Given the description of an element on the screen output the (x, y) to click on. 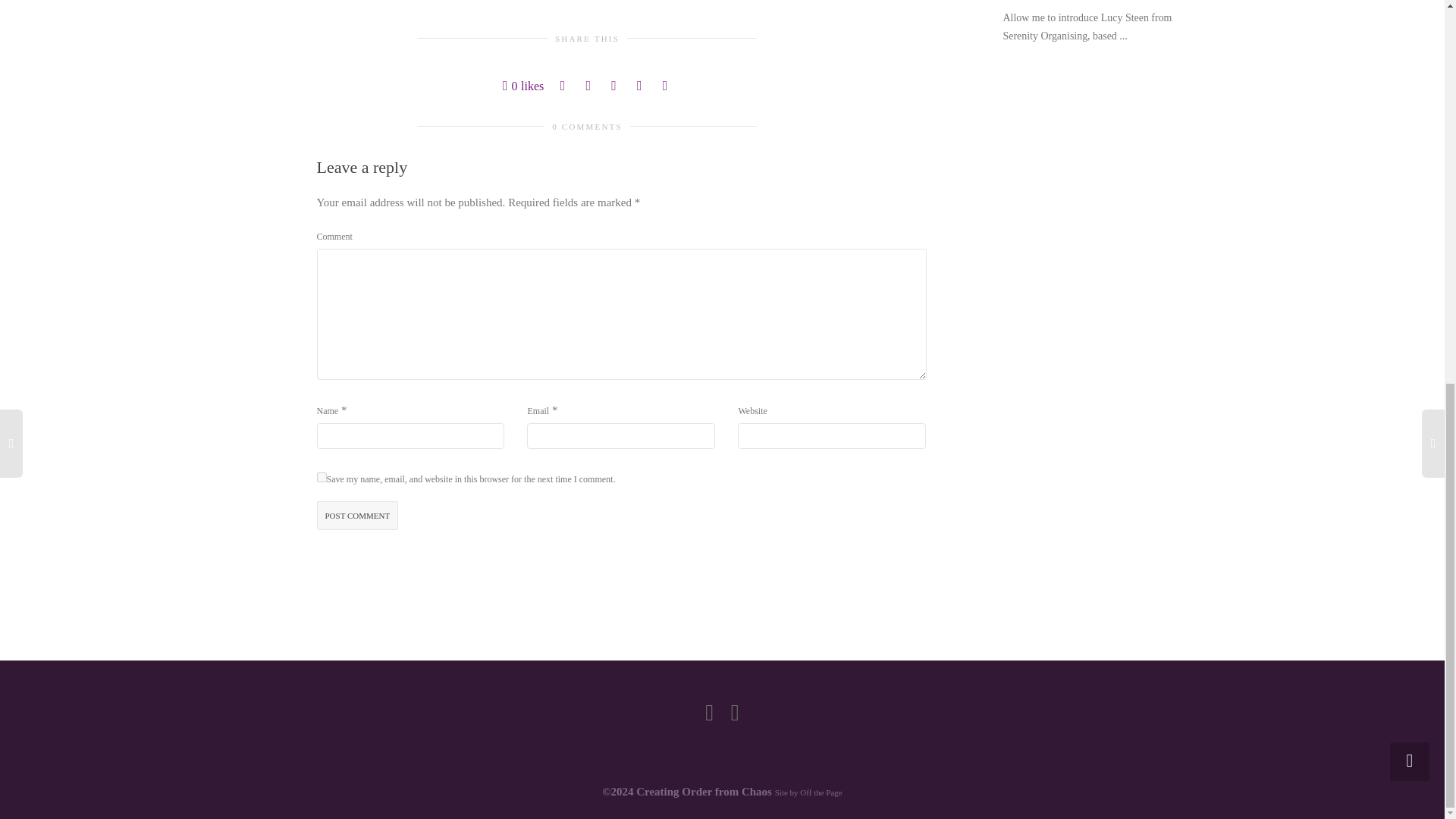
yes (321, 477)
Post comment (357, 515)
Post comment (357, 515)
Off the Page (820, 791)
0 likes (522, 85)
